Given the description of an element on the screen output the (x, y) to click on. 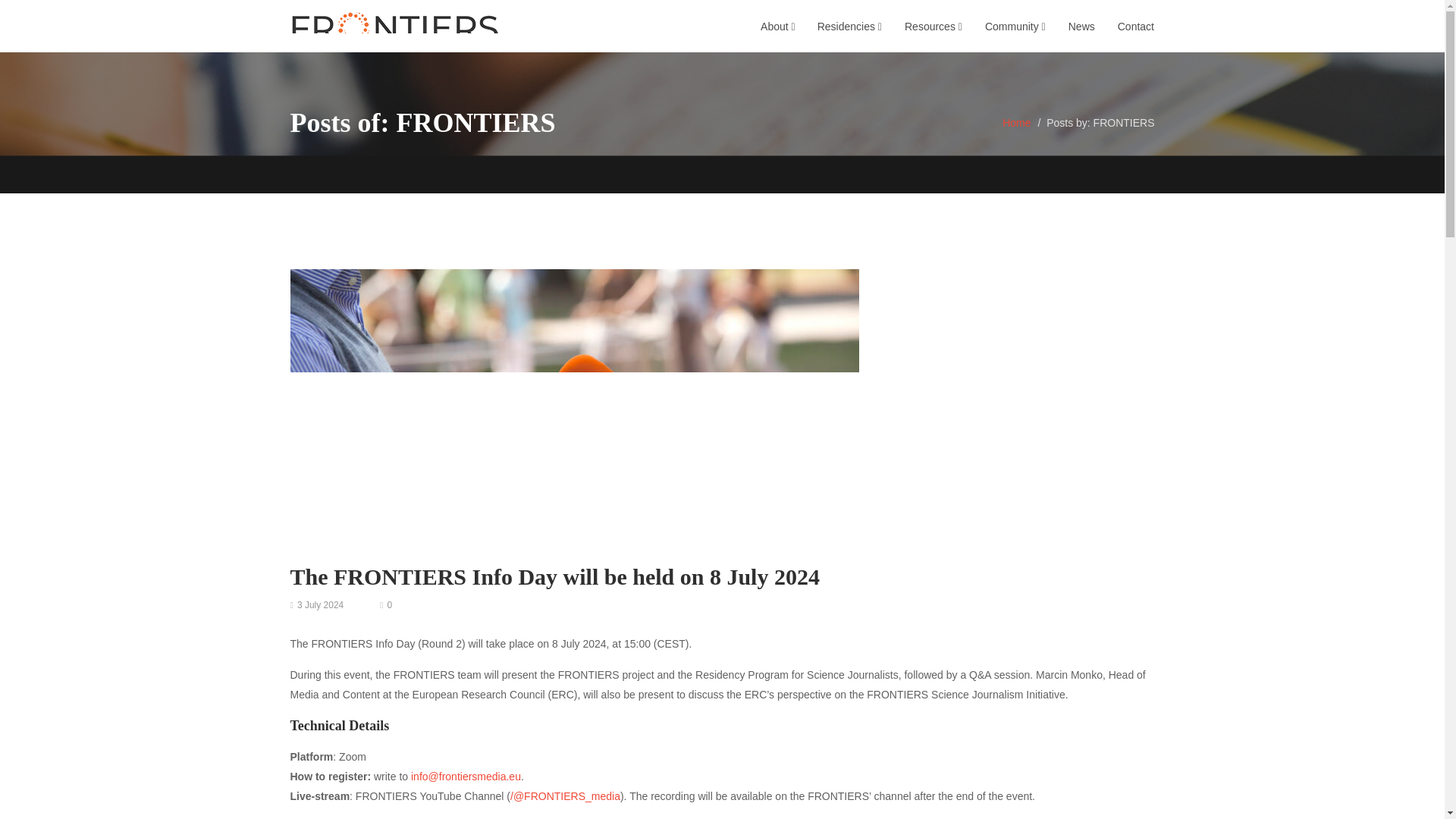
Community (1015, 26)
About (777, 26)
Resources (933, 26)
Contact (1136, 26)
FRONTIERS (394, 25)
News (1081, 26)
Resources (933, 26)
About (777, 26)
Residencies (849, 26)
Residencies (849, 26)
